Given the description of an element on the screen output the (x, y) to click on. 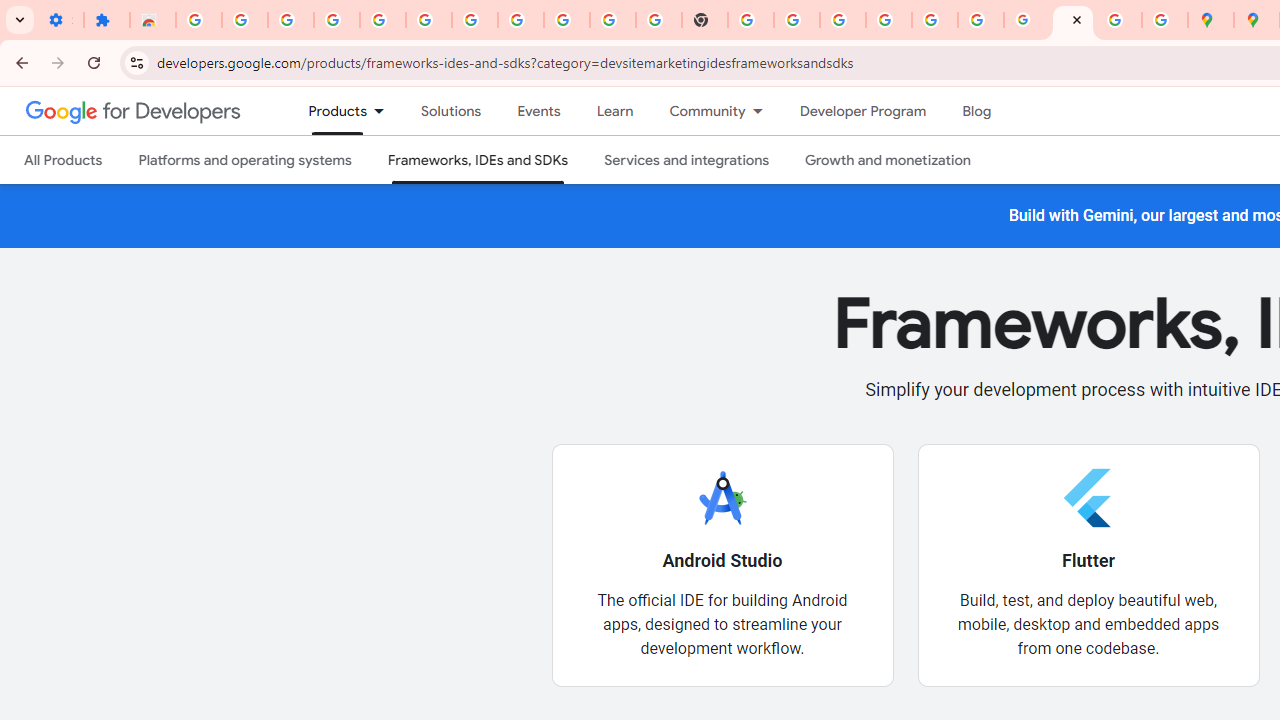
New Tab (705, 20)
Events (538, 111)
Settings - On startup (60, 20)
Reviews: Helix Fruit Jump Arcade Game (153, 20)
Google Account (567, 20)
Android Studio logo (722, 497)
Services and integrations (687, 160)
Google for Developers (133, 110)
